Given the description of an element on the screen output the (x, y) to click on. 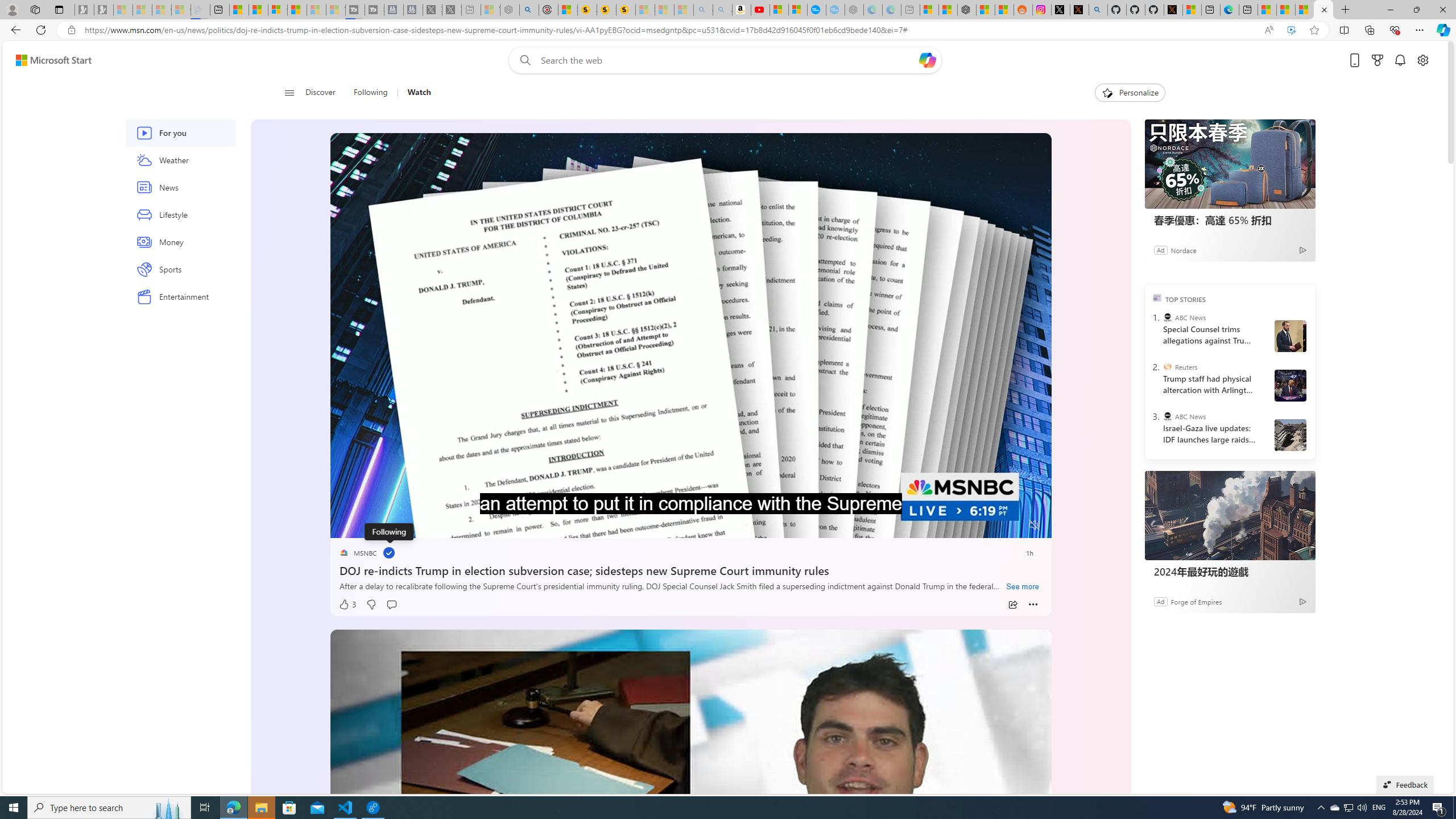
MSNBC - MSN (1285, 9)
Class: button-glyph (289, 92)
Share (1012, 604)
Michelle Starr, Senior Journalist at ScienceAlert (625, 9)
Progress Bar (690, 510)
